Given the description of an element on the screen output the (x, y) to click on. 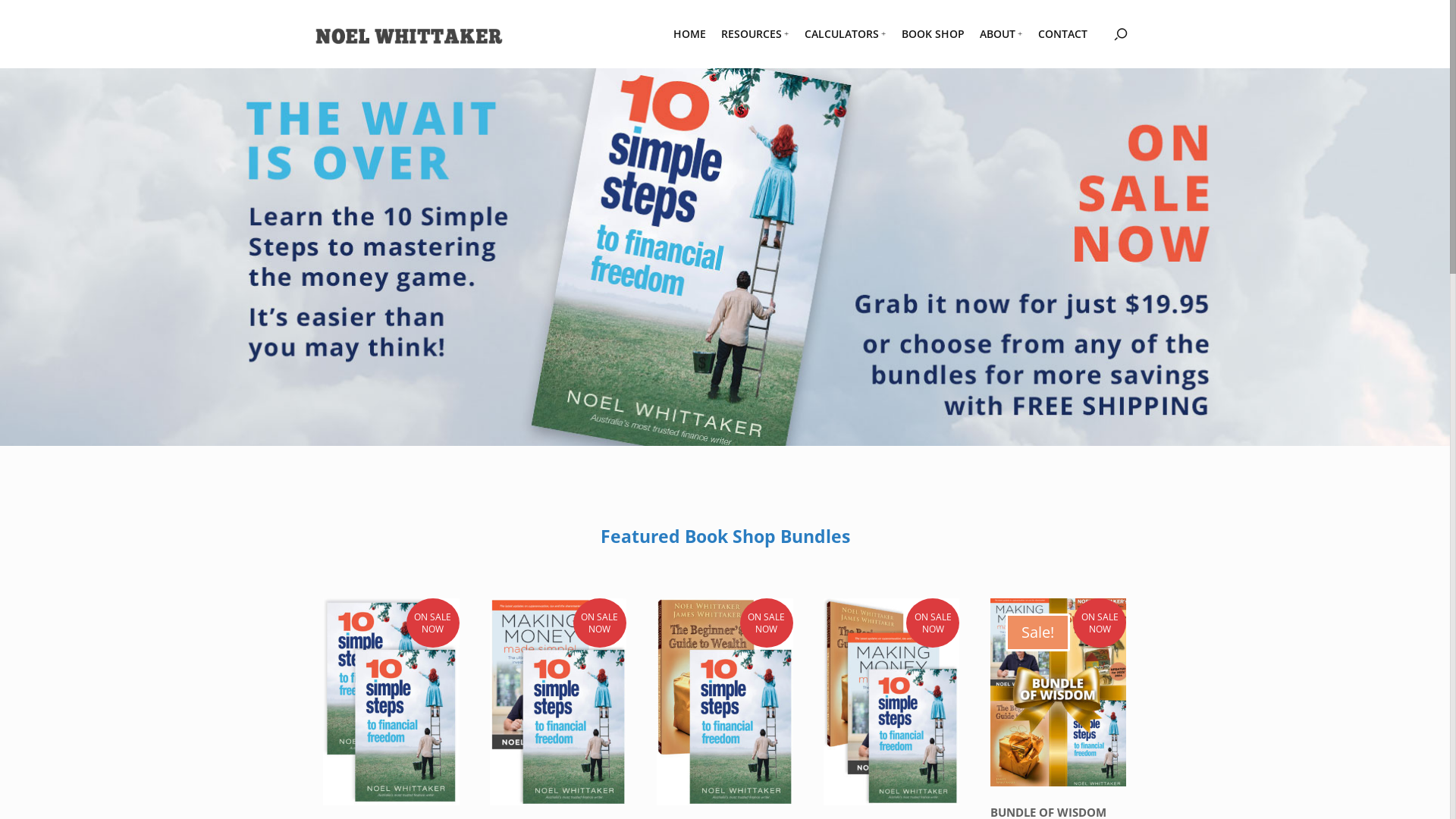
Noel Whittaker | Australia's Financial Wizard of Oz Element type: hover (408, 31)
ABOUT Element type: text (1001, 34)
BOOK SHOP Element type: text (933, 34)
noel-new-book2 Element type: hover (724, 256)
CALCULATORS Element type: text (845, 34)
CONTACT Element type: text (1062, 34)
HOME Element type: text (689, 34)
RESOURCES Element type: text (755, 34)
